Given the description of an element on the screen output the (x, y) to click on. 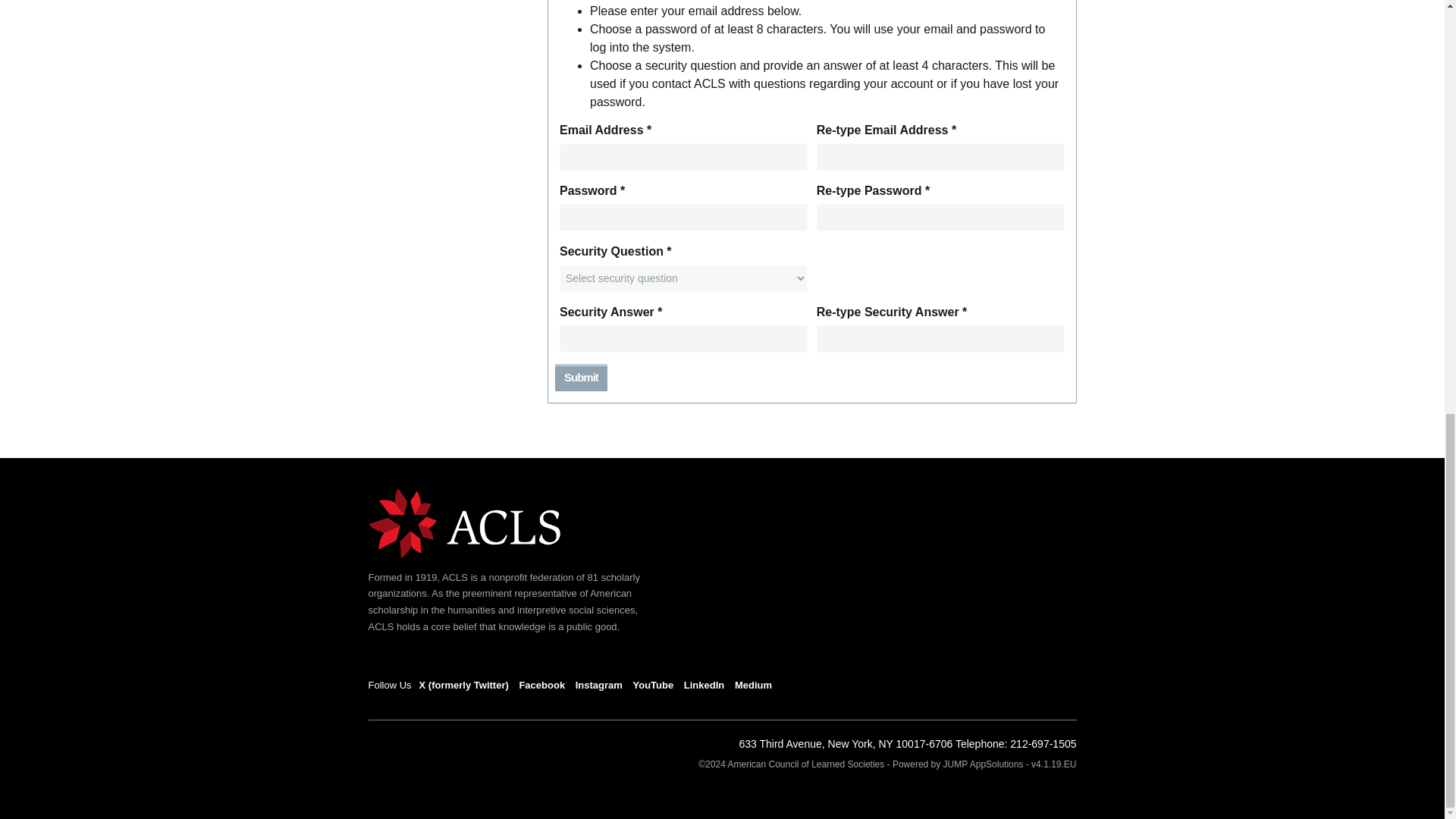
Medium (753, 685)
Facebook (541, 685)
YouTube (651, 685)
Home (464, 521)
LinkedIn (703, 685)
Submit (580, 376)
Instagram (599, 685)
